Given the description of an element on the screen output the (x, y) to click on. 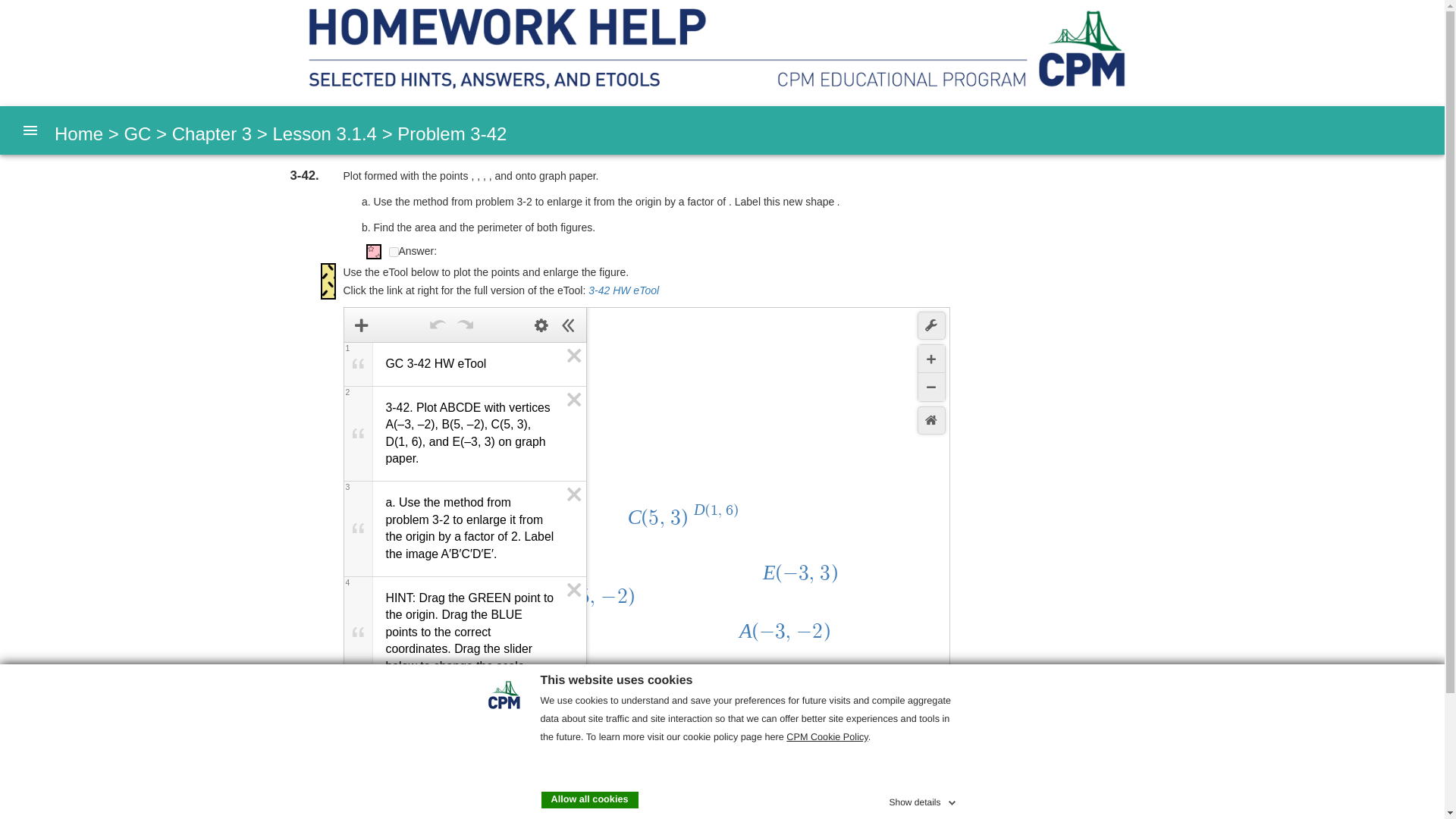
CPM Cookie Policy (826, 737)
Allow all cookies (590, 799)
on (392, 252)
Show details (923, 799)
